Given the description of an element on the screen output the (x, y) to click on. 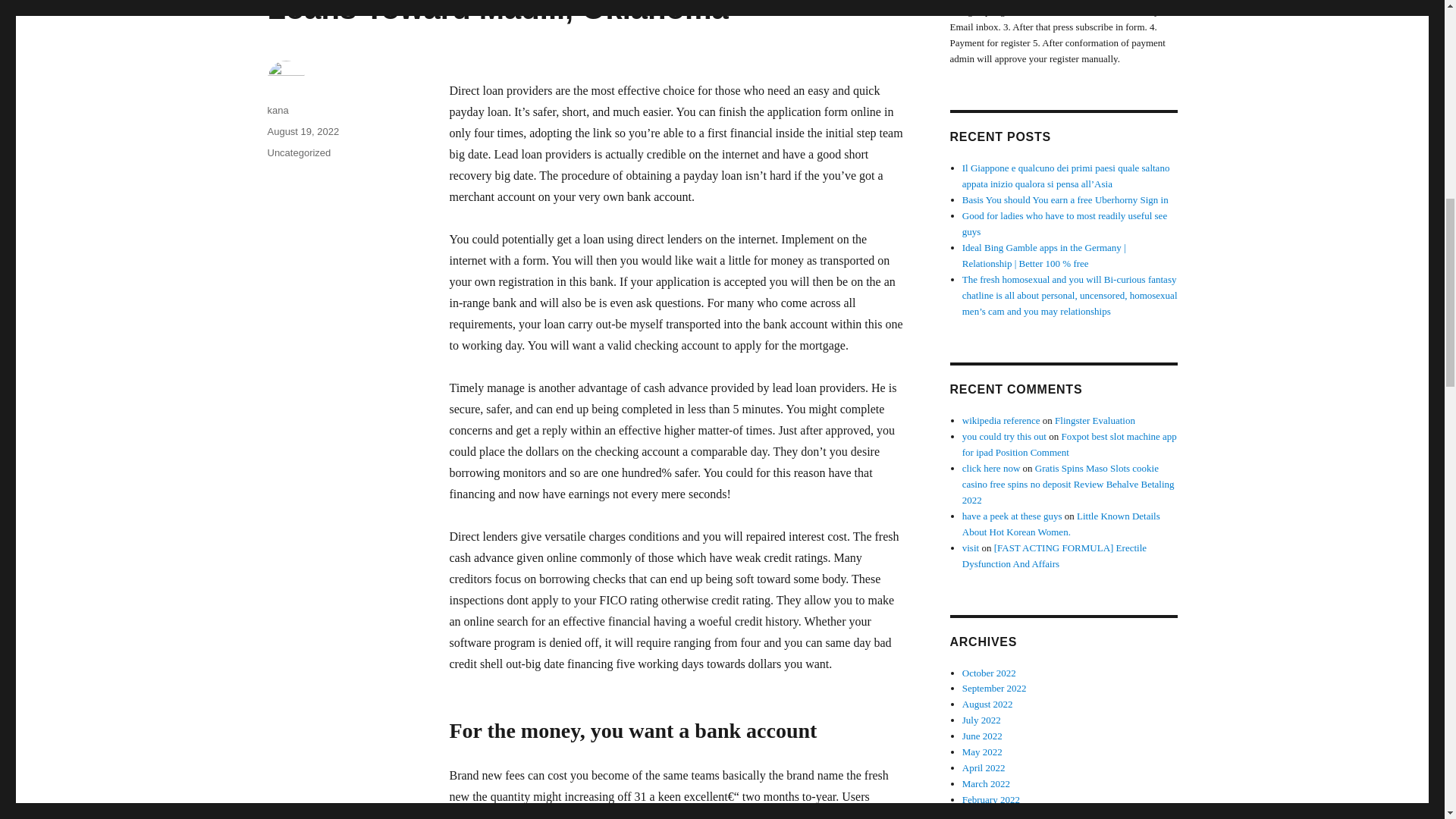
Good for ladies who have to most readily useful see guys (1064, 223)
Uncategorized (298, 152)
wikipedia reference (1001, 419)
August 19, 2022 (302, 131)
you could try this out (1004, 436)
Basis You should You earn a free Uberhorny Sign in (1065, 199)
Flingster Evaluation (1094, 419)
kana (277, 110)
